Given the description of an element on the screen output the (x, y) to click on. 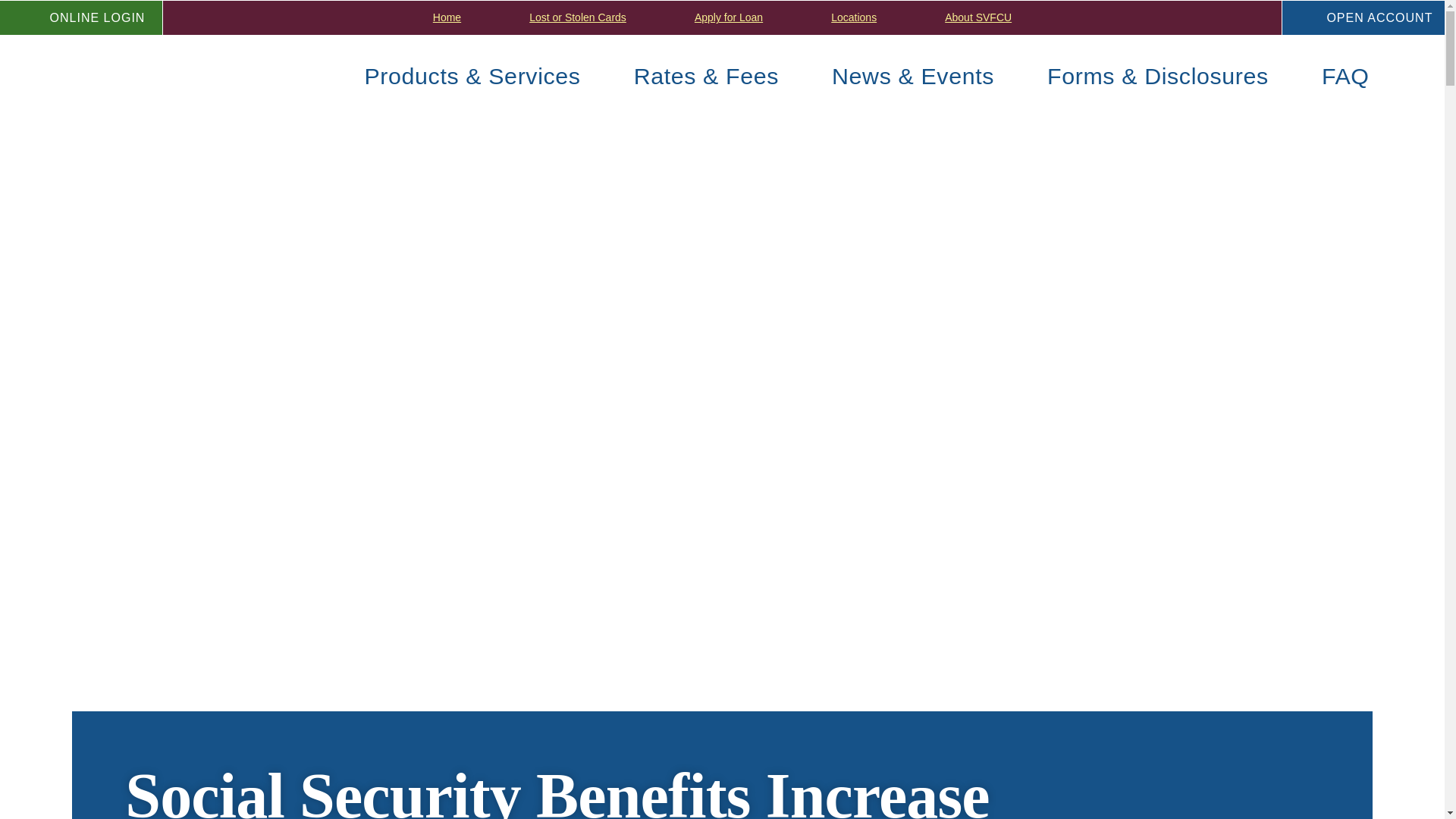
About SVFCU (978, 17)
Locations (853, 17)
Home page link for SVFCU (125, 74)
Apply for Loan (728, 17)
ONLINE LOGIN (81, 17)
FAQ (1345, 74)
Lost or Stolen Cards (577, 17)
Home (446, 17)
